Given the description of an element on the screen output the (x, y) to click on. 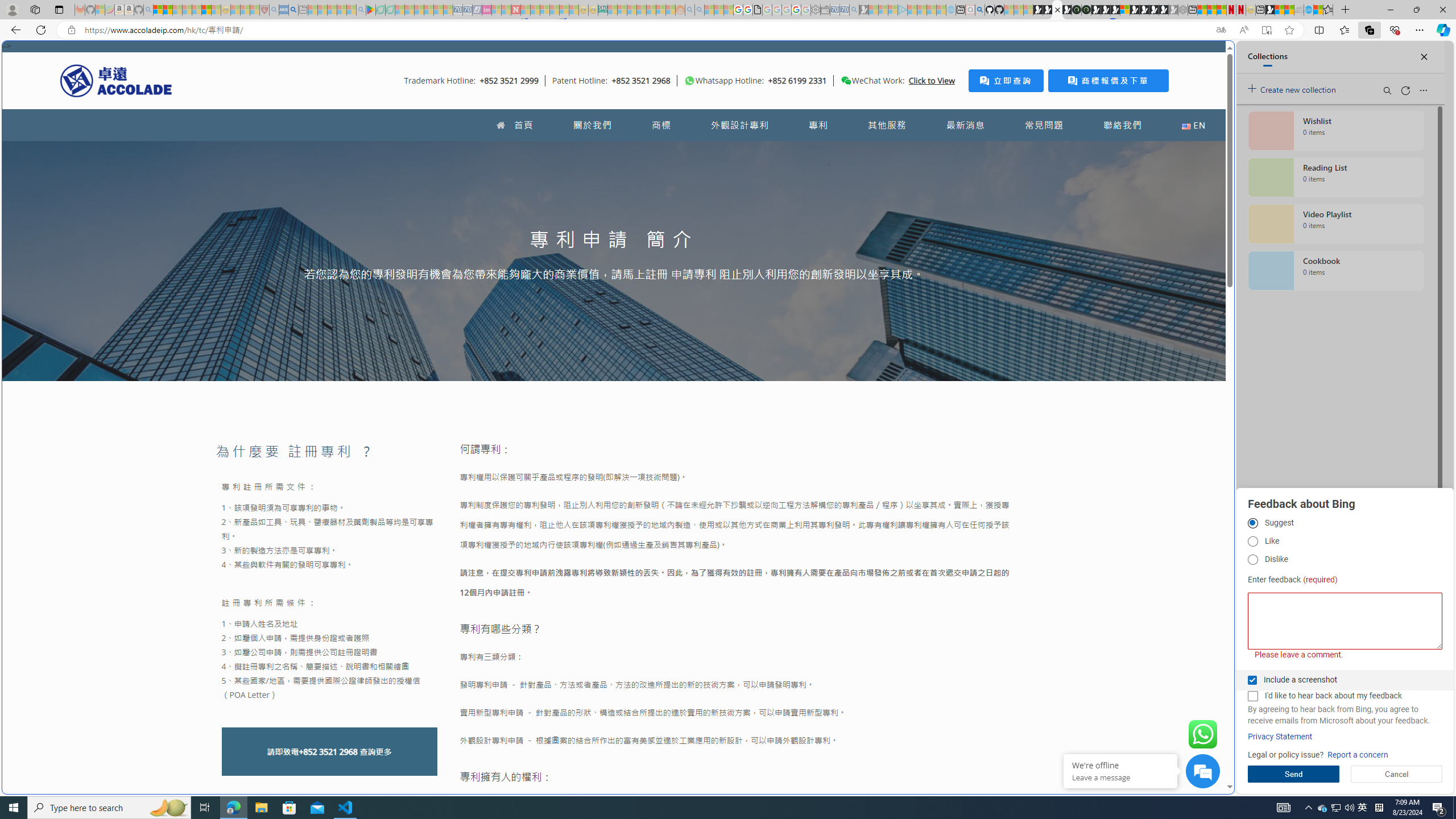
EN (1193, 124)
Send (1293, 773)
World - MSN (727, 389)
Home | Sky Blue Bikes - Sky Blue Bikes - Sleeping (950, 9)
MSNBC - MSN - Sleeping (611, 9)
Tabs you've opened (885, 151)
